Given the description of an element on the screen output the (x, y) to click on. 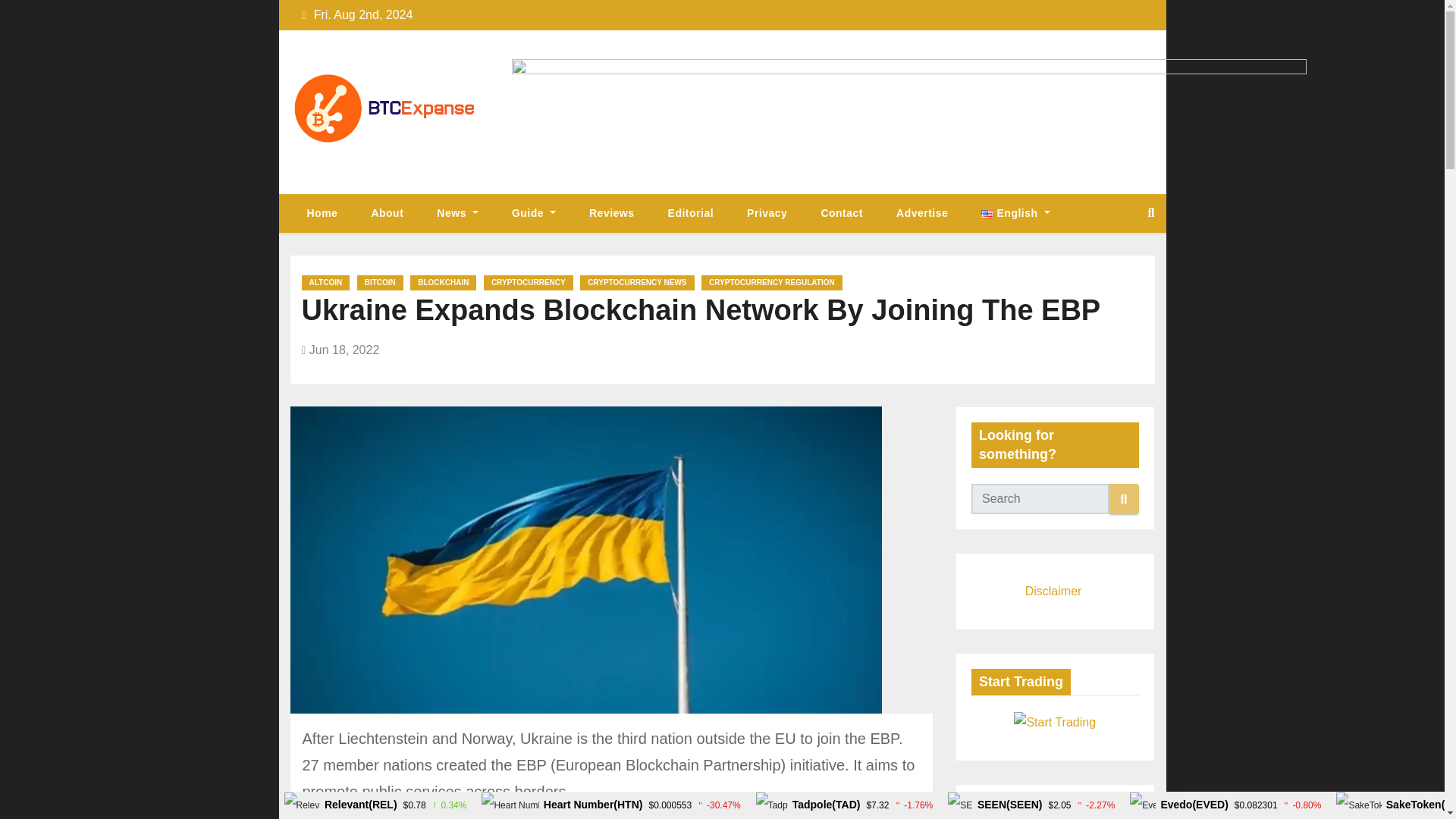
Contact (841, 213)
Reviews (611, 213)
Home (321, 213)
About (386, 213)
Editorial (690, 213)
Privacy (766, 213)
News (457, 213)
Guide (533, 213)
Guide (533, 213)
Home (321, 213)
